Given the description of an element on the screen output the (x, y) to click on. 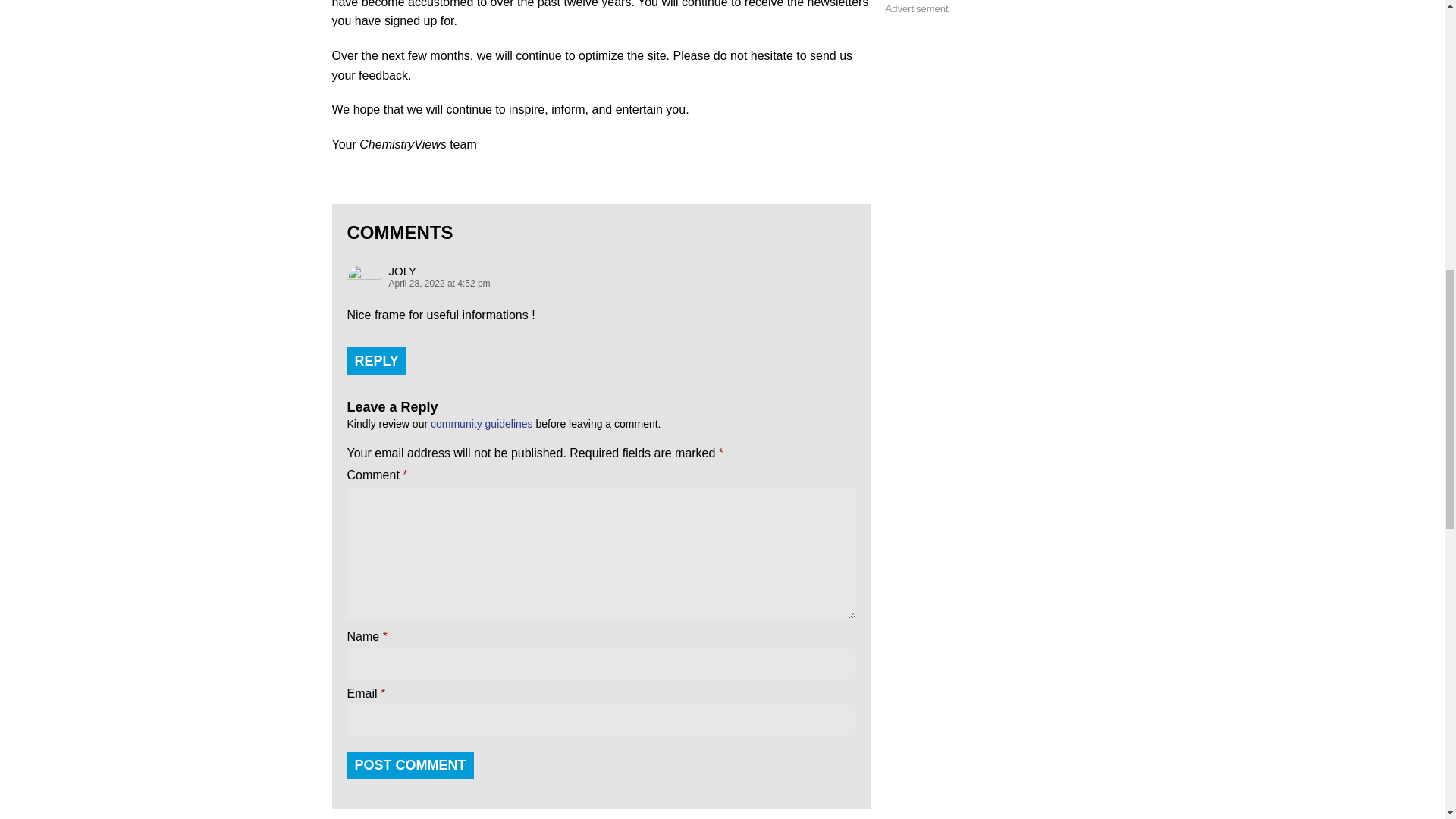
REPLY (376, 360)
April 28, 2022 at 4:52 pm (601, 283)
Post Comment (410, 764)
